Given the description of an element on the screen output the (x, y) to click on. 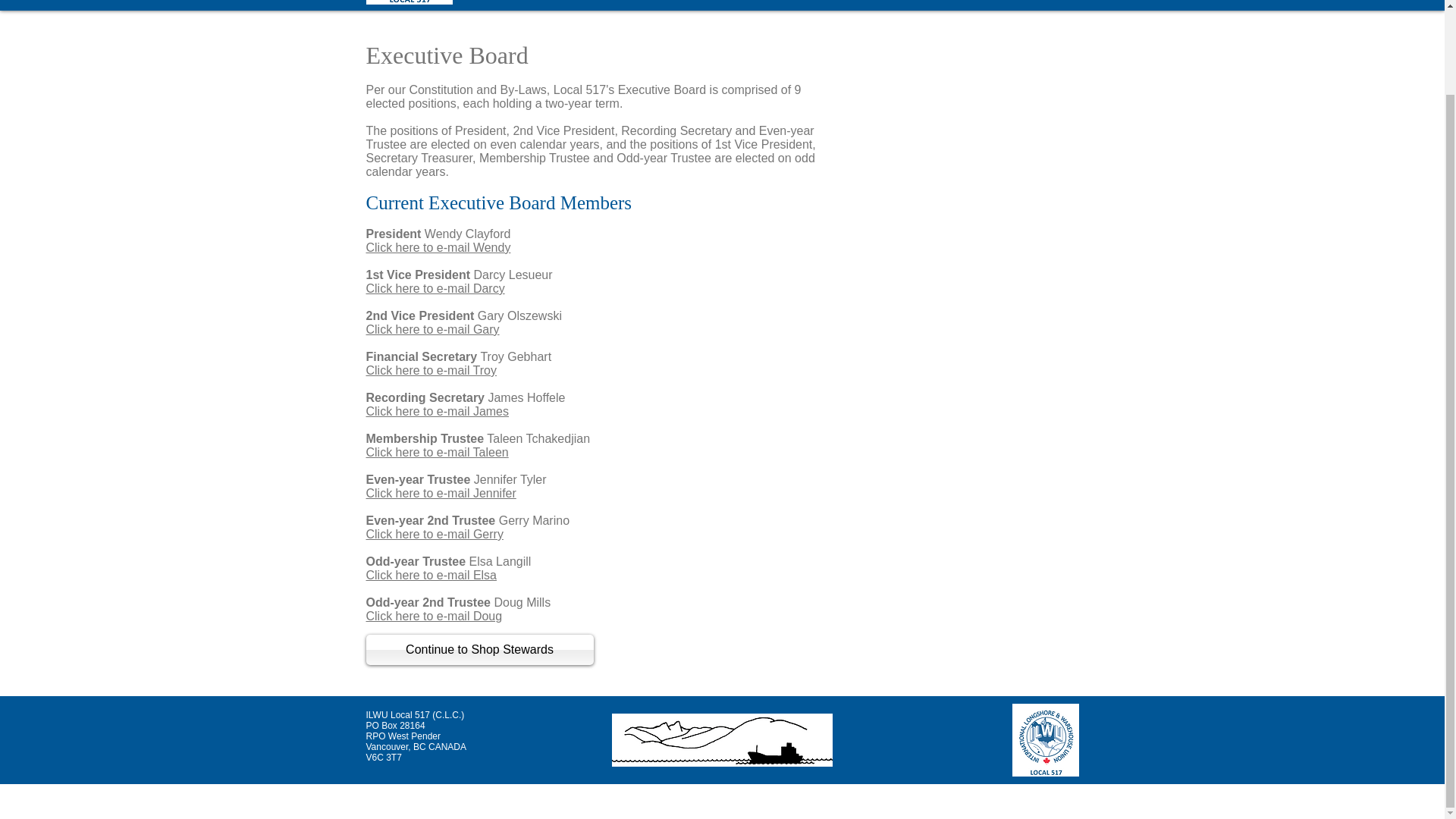
Click here to e-mail Troy (430, 369)
517 oLD - bwPicture1.png (721, 739)
Continue to Shop Stewards (478, 649)
Click here to e-mail Darcy (434, 287)
Click here to e-mail Doug (433, 615)
Click here to e-mail Elsa (430, 574)
Click here to e-mail Wendy (438, 246)
Click here to e-mail Jennifer (440, 492)
Click here to e-mail Gerry (433, 533)
Click here to e-mail Gary (432, 328)
